Given the description of an element on the screen output the (x, y) to click on. 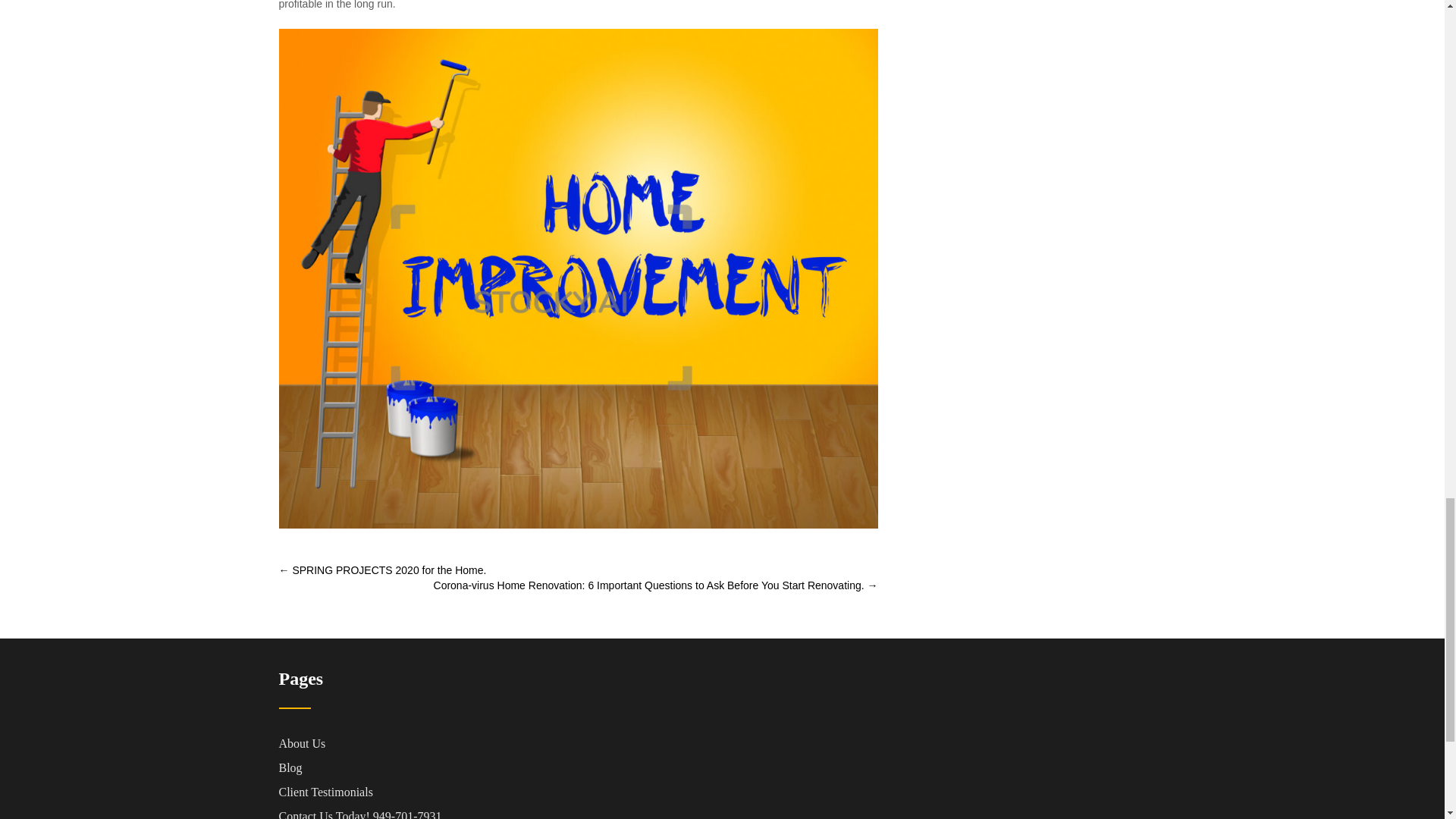
Contact Us Today! 949-701-7931 (379, 811)
Blog (379, 767)
About Us (379, 743)
Client Testimonials (379, 792)
